Given the description of an element on the screen output the (x, y) to click on. 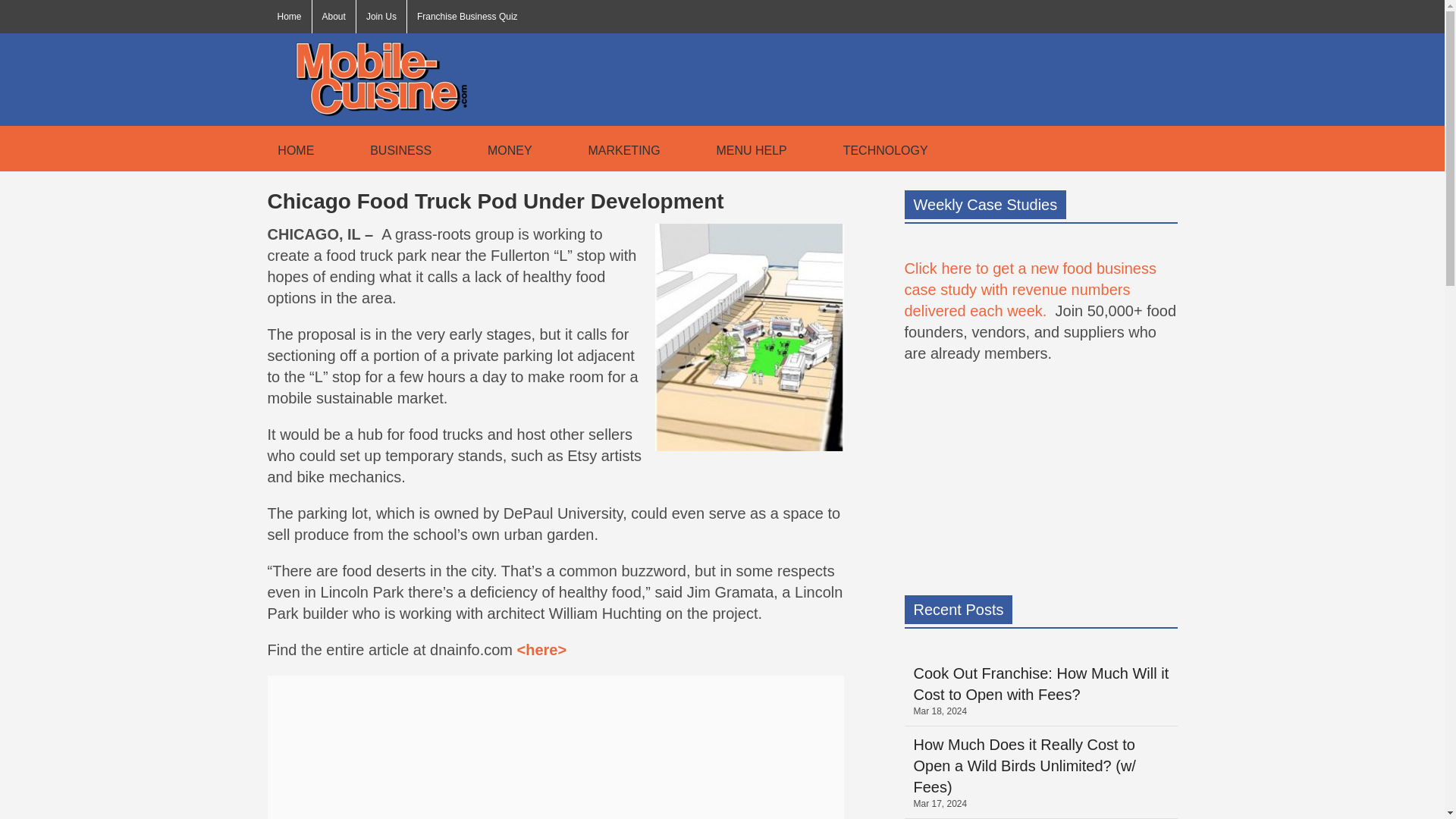
TECHNOLOGY (880, 148)
Join Us (381, 16)
About (334, 16)
Franchise Business Quiz (467, 16)
MONEY (504, 148)
BUSINESS (394, 148)
Home (288, 16)
MENU HELP (746, 148)
MARKETING (619, 148)
HOME (290, 148)
